Given the description of an element on the screen output the (x, y) to click on. 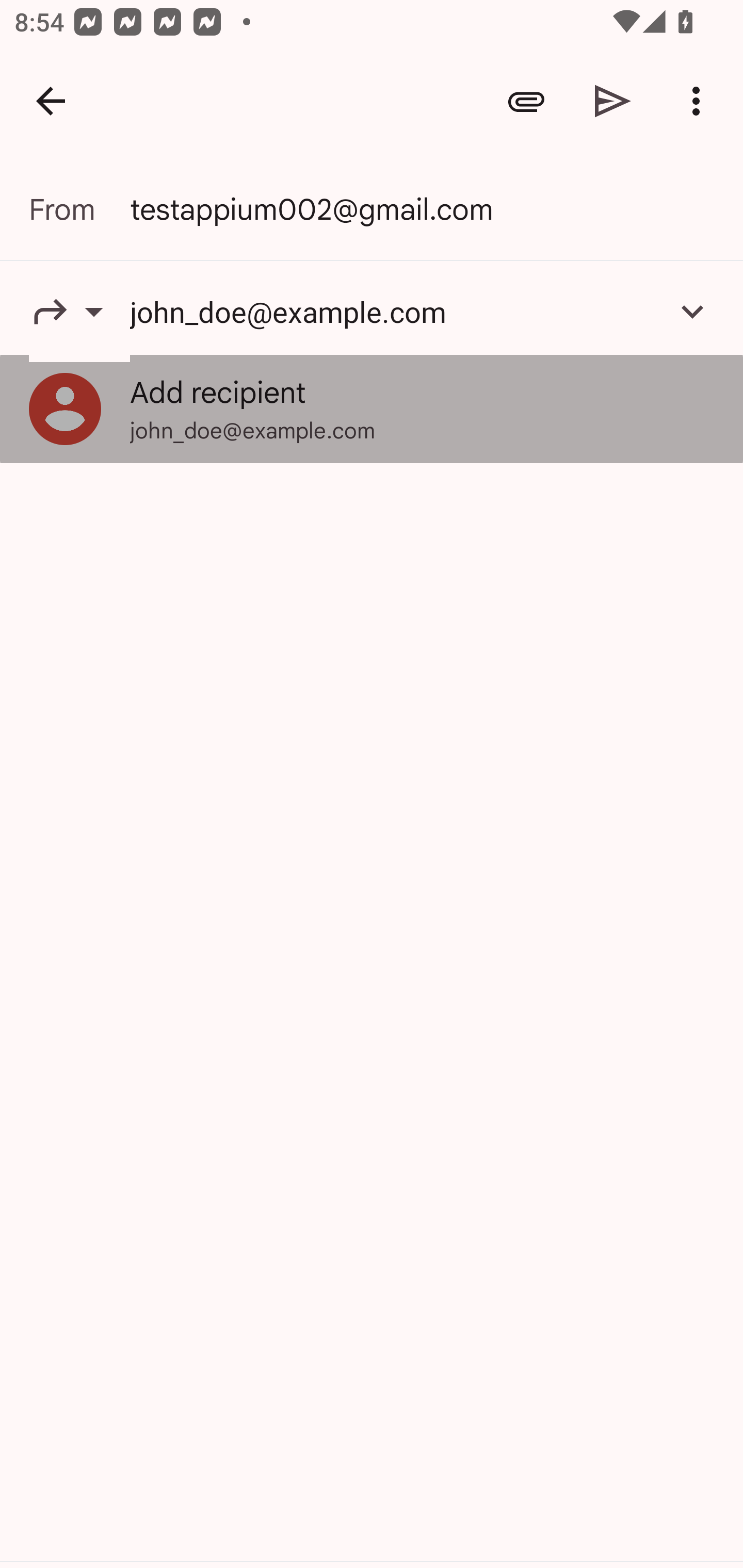
Navigate up (50, 101)
Attach file (525, 101)
Send (612, 101)
More options (699, 101)
From (79, 209)
Forward (79, 311)
Add Cc/Bcc (692, 311)
john_doe@example.com (393, 311)
Add recipient john_doe@example.com (371, 408)
